Given the description of an element on the screen output the (x, y) to click on. 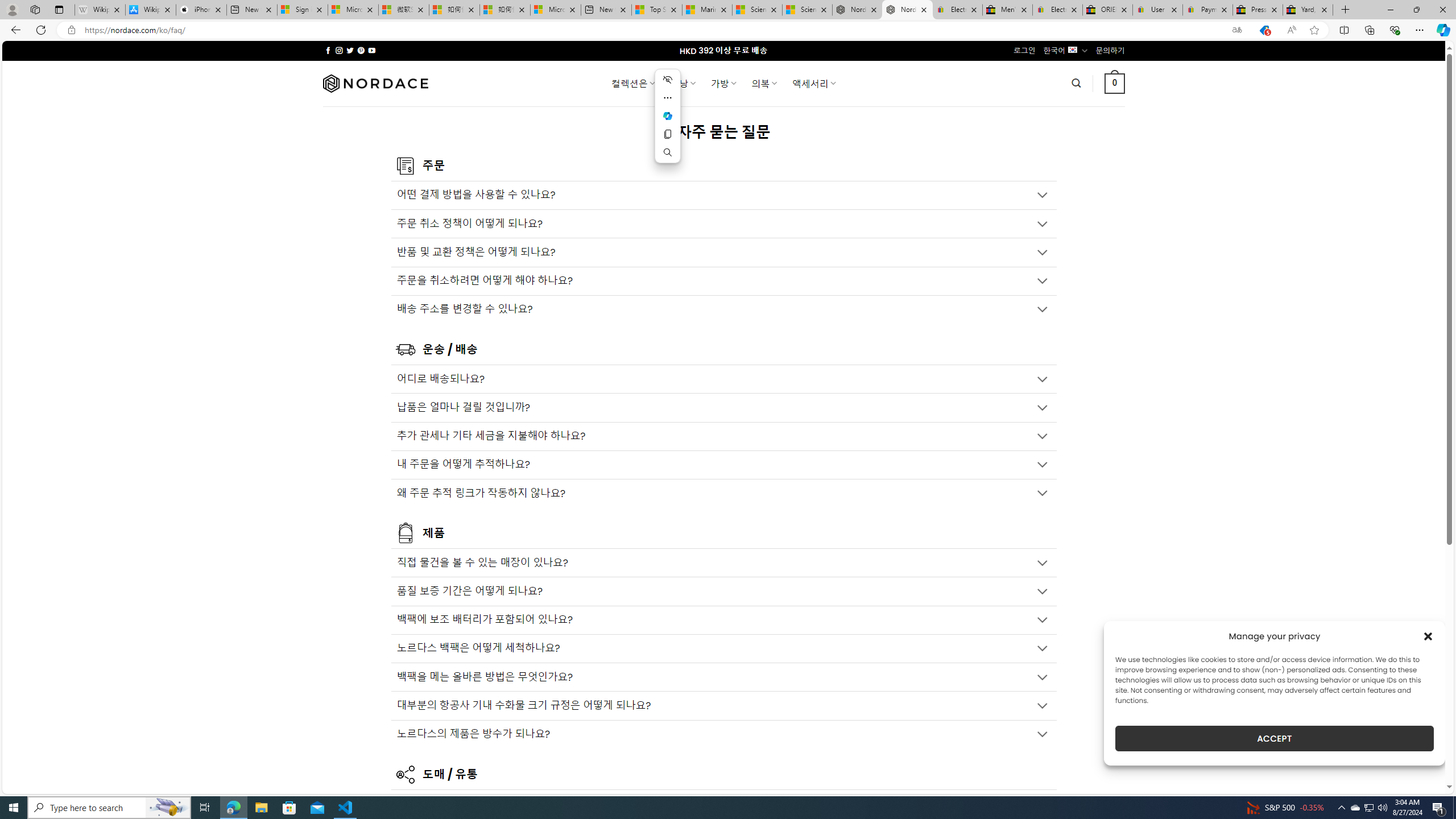
Follow on YouTube (371, 50)
Follow on Facebook (327, 50)
